Given the description of an element on the screen output the (x, y) to click on. 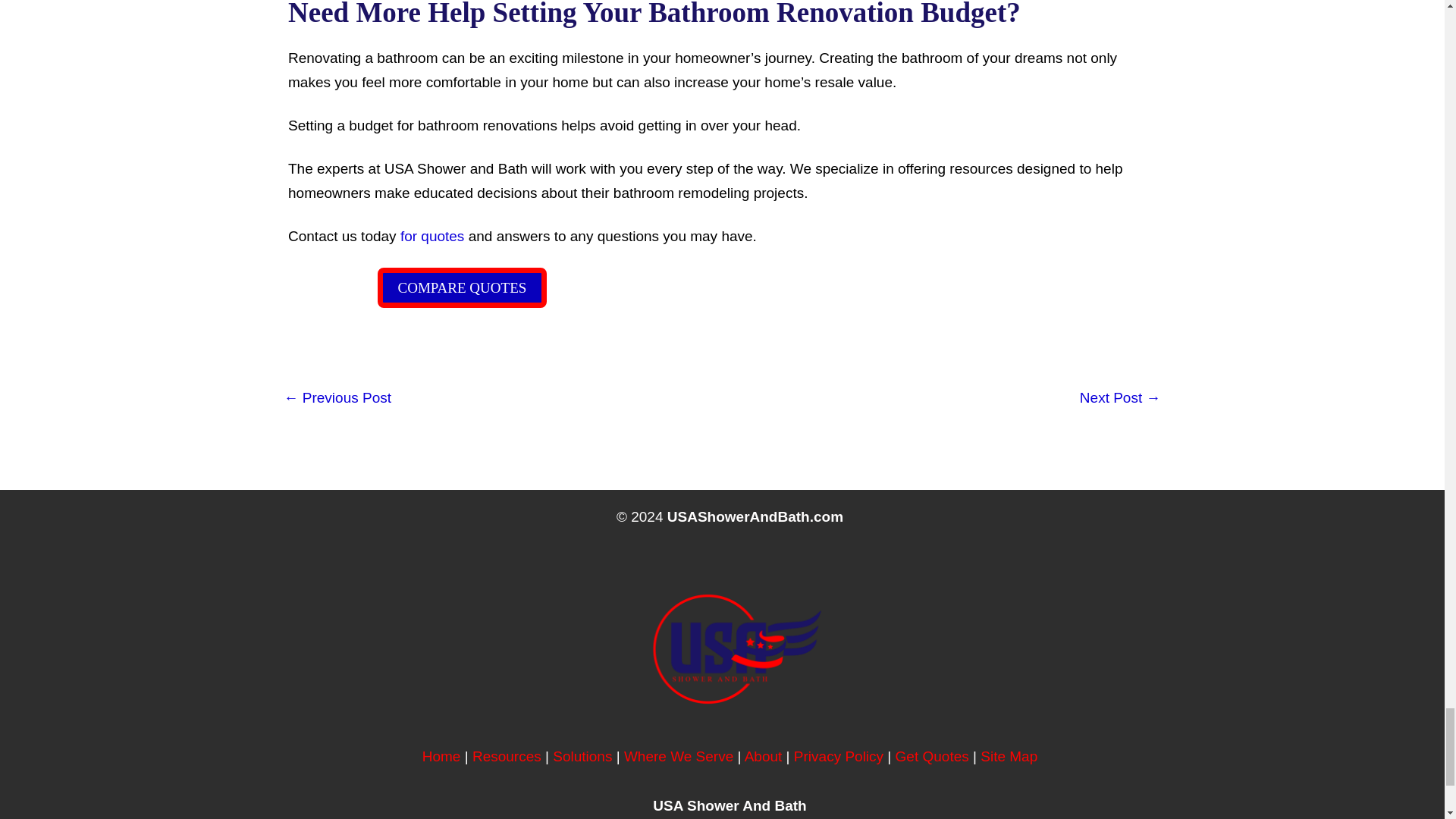
Resources (506, 756)
Solutions (582, 756)
USA Shower And bath (441, 756)
23 Amazing Bathroom Remodeling Ideas in 2022 (337, 398)
Site Map (1007, 756)
About (763, 756)
Privacy Policy (838, 756)
Tub to Shower Conversion Cost (1120, 398)
Where We Serve (678, 756)
Get Quotes (932, 756)
